Given the description of an element on the screen output the (x, y) to click on. 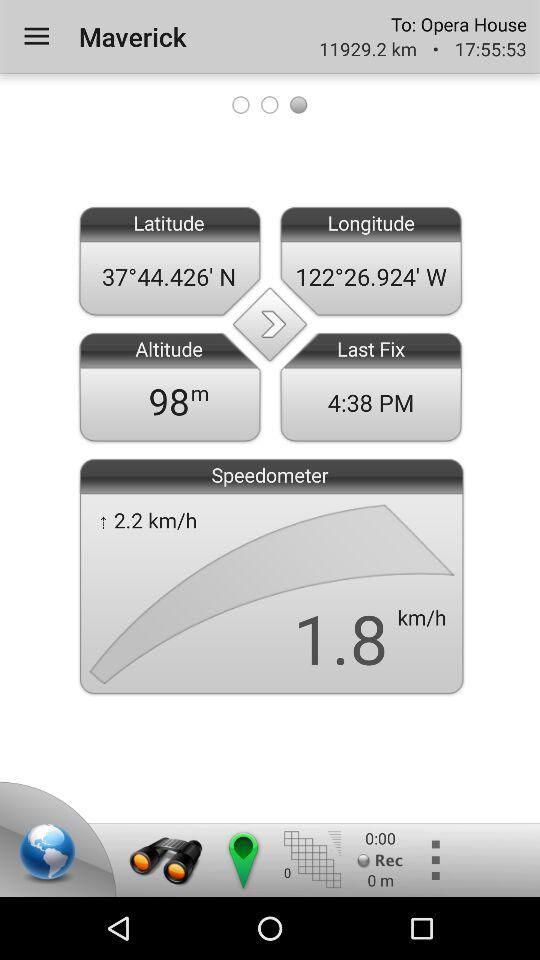
button localization (242, 860)
